Given the description of an element on the screen output the (x, y) to click on. 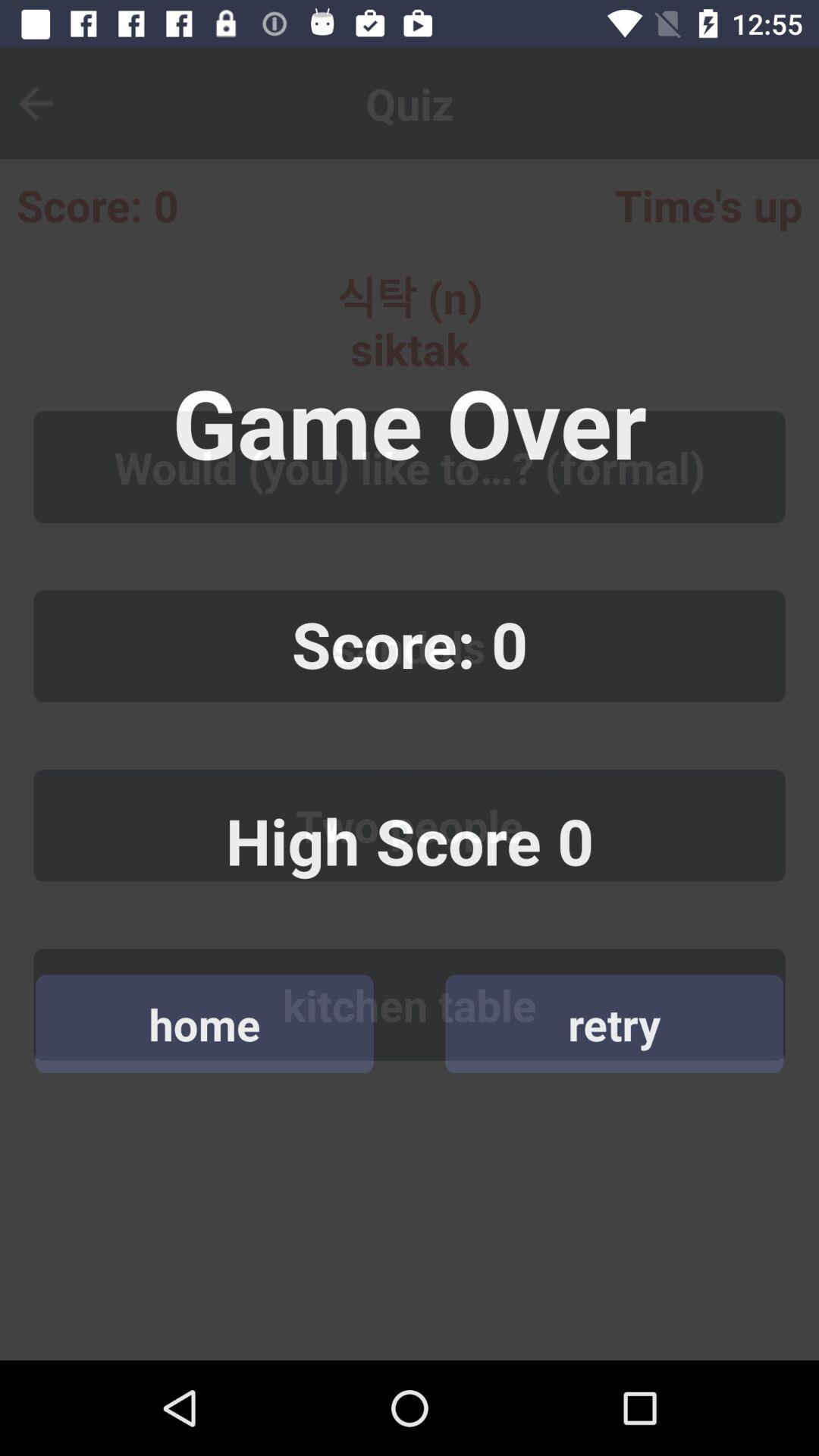
select the text which is below the high score 0 (409, 826)
